Given the description of an element on the screen output the (x, y) to click on. 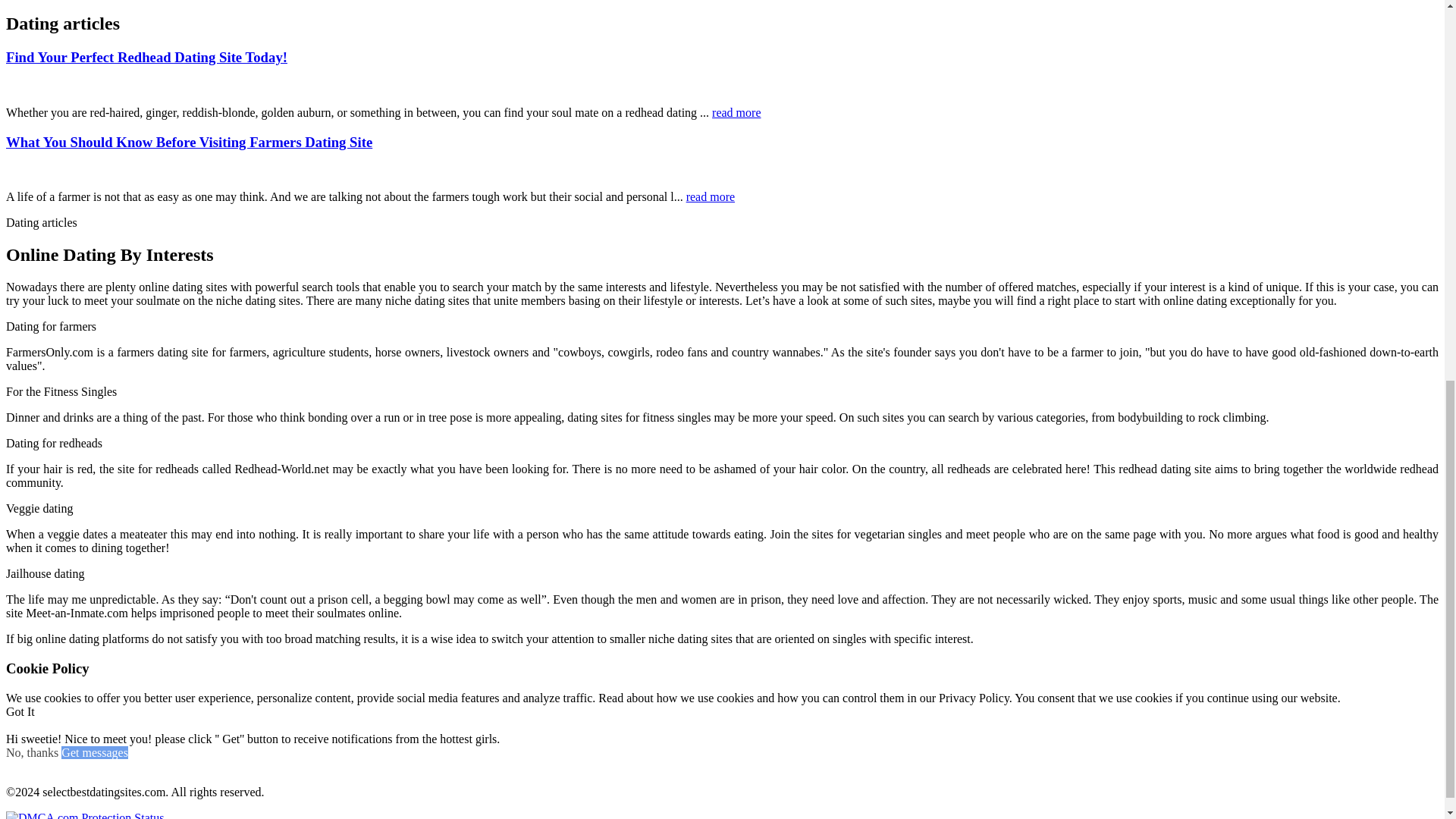
Get messages (94, 752)
No, thanks (31, 752)
What You Should Know Before Visiting Farmers Dating Site (188, 141)
read more (735, 112)
Find Your Perfect Redhead Dating Site Today! (145, 57)
Got It (19, 711)
read more (710, 196)
